Given the description of an element on the screen output the (x, y) to click on. 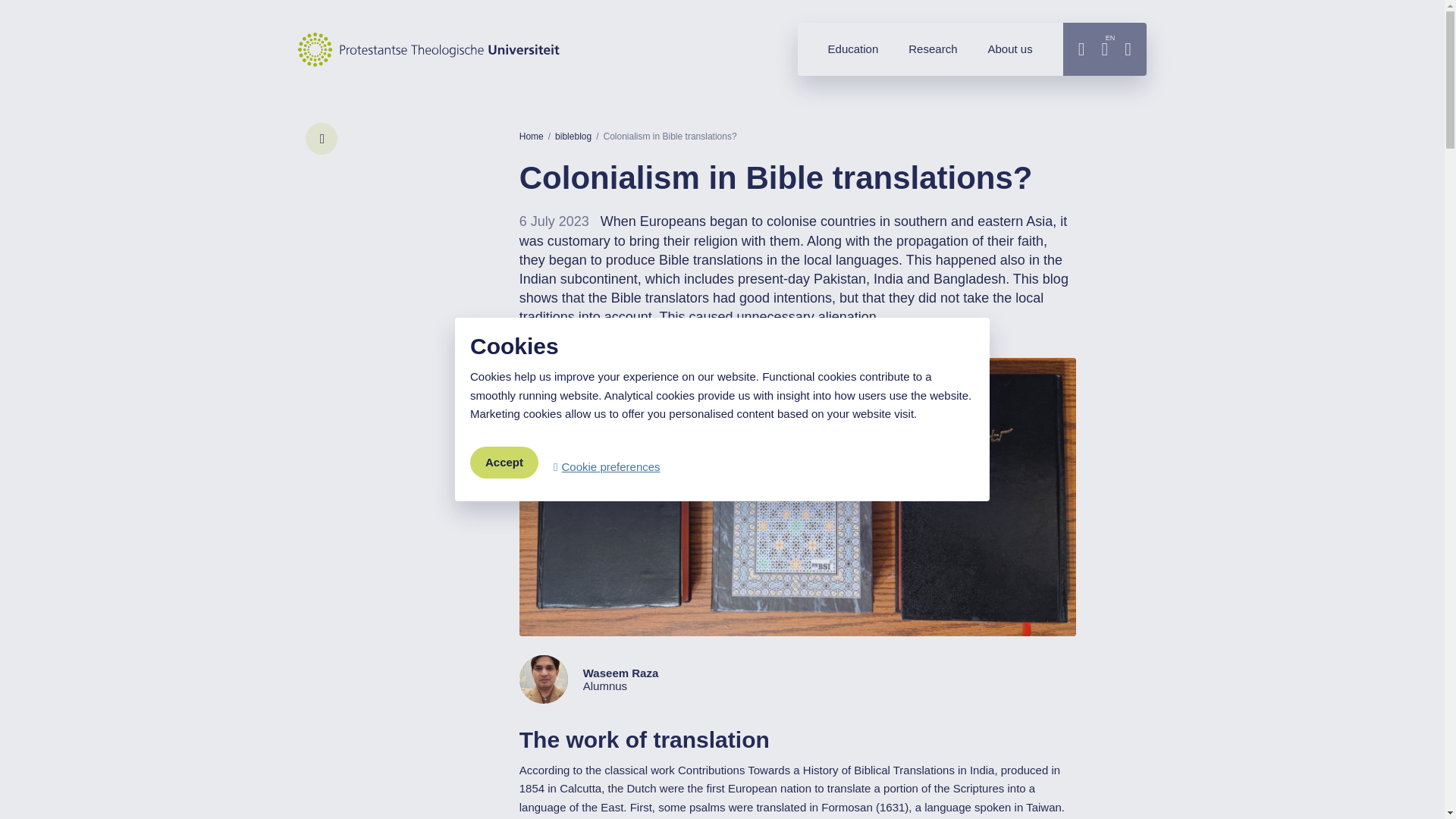
bibleblog (572, 136)
Home (531, 136)
Research (932, 49)
Education (852, 49)
About us (1009, 49)
